Given the description of an element on the screen output the (x, y) to click on. 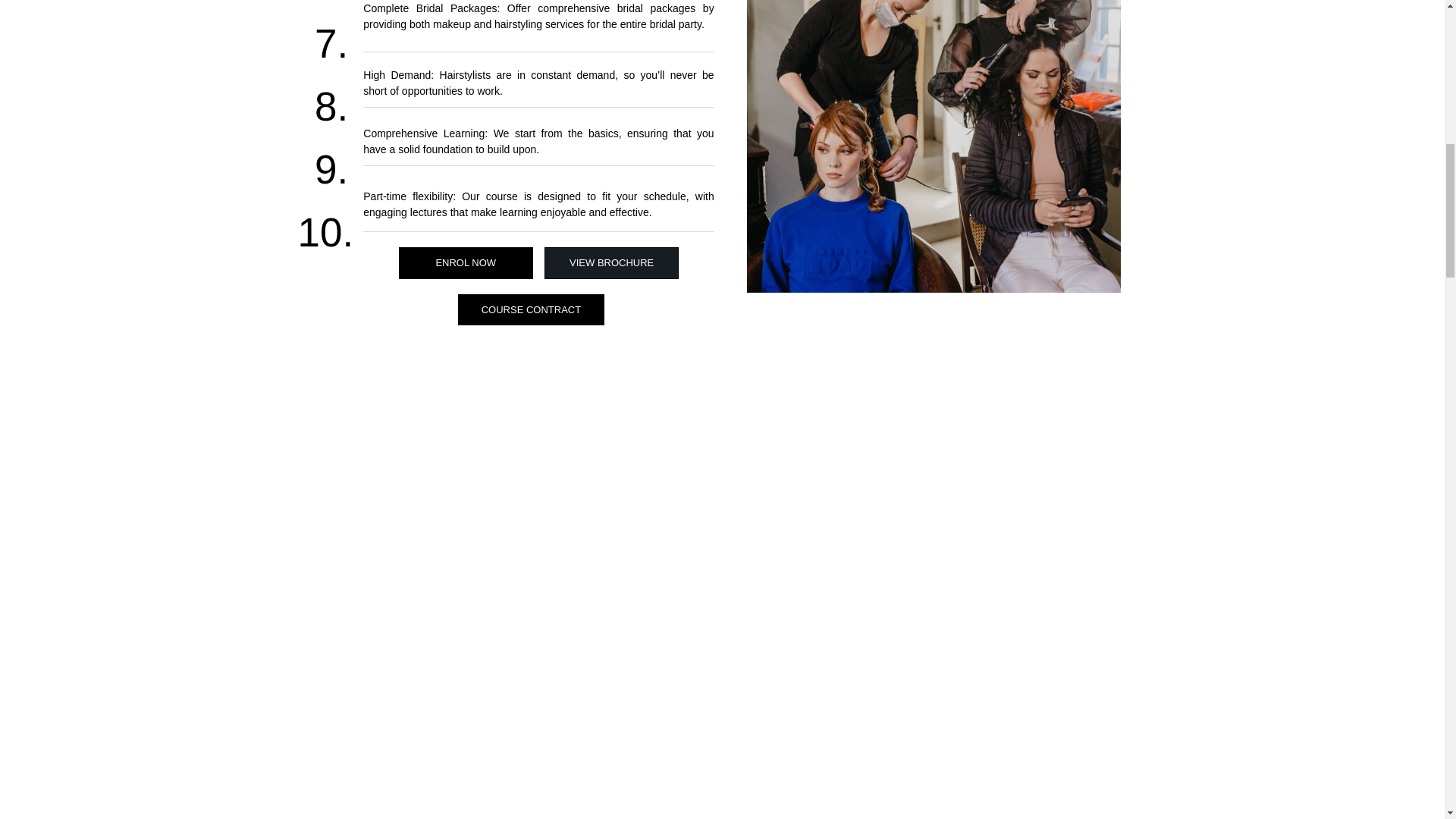
COURSE CONTRACT (531, 309)
VIEW BROCHURE (611, 263)
ENROL NOW (465, 263)
